Given the description of an element on the screen output the (x, y) to click on. 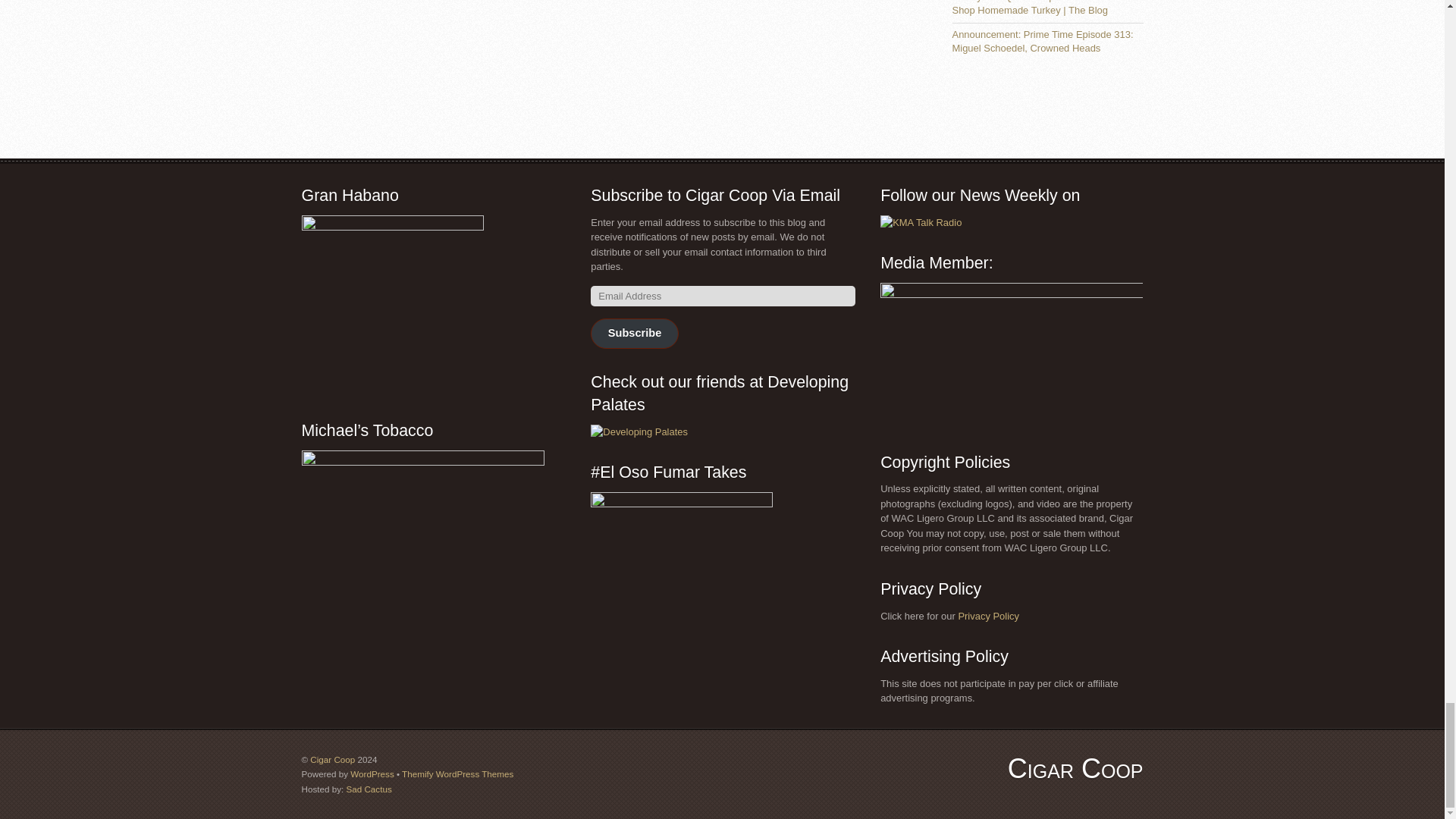
Cigar Coop (1074, 767)
